Given the description of an element on the screen output the (x, y) to click on. 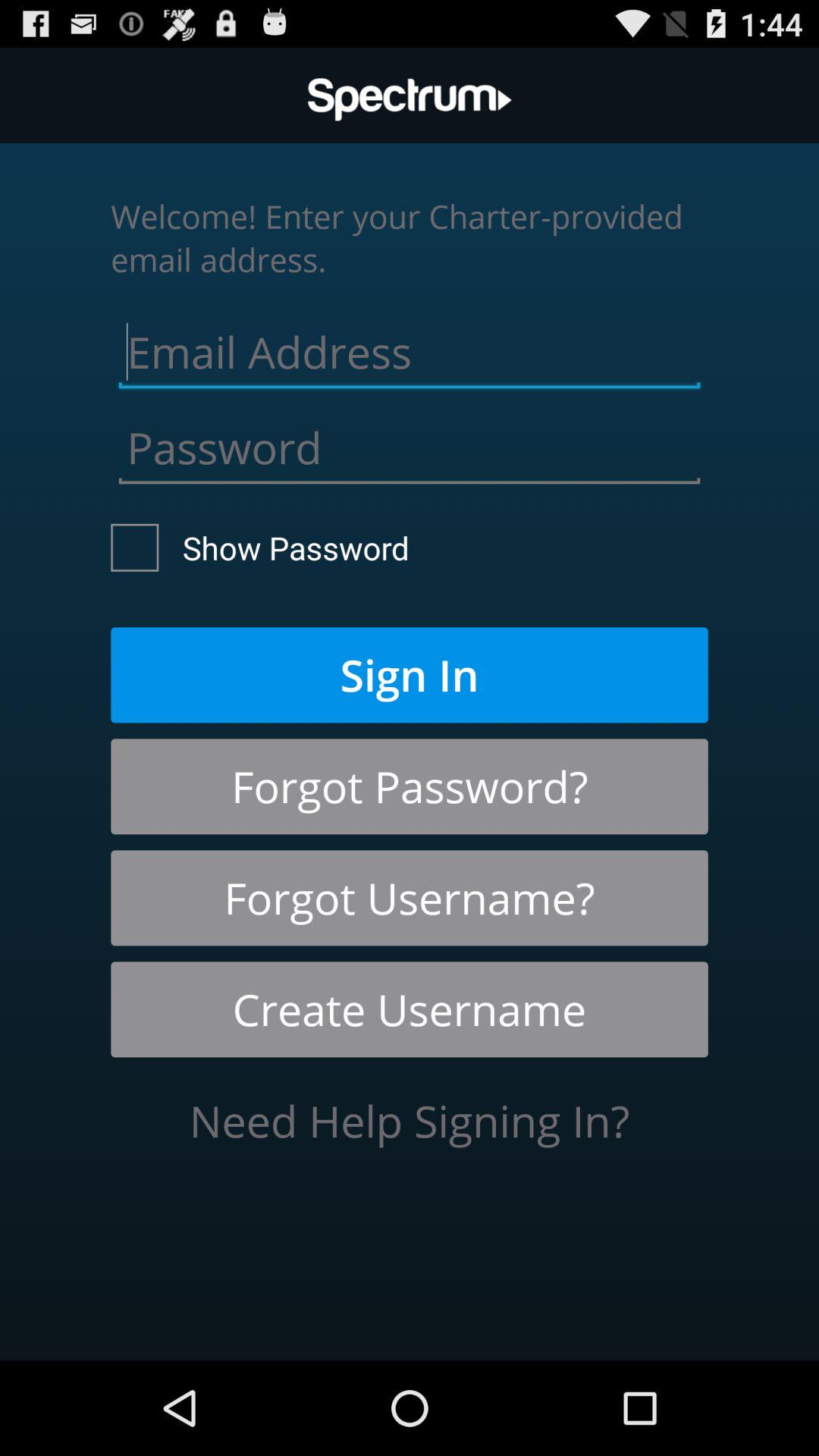
enter password (409, 443)
